Given the description of an element on the screen output the (x, y) to click on. 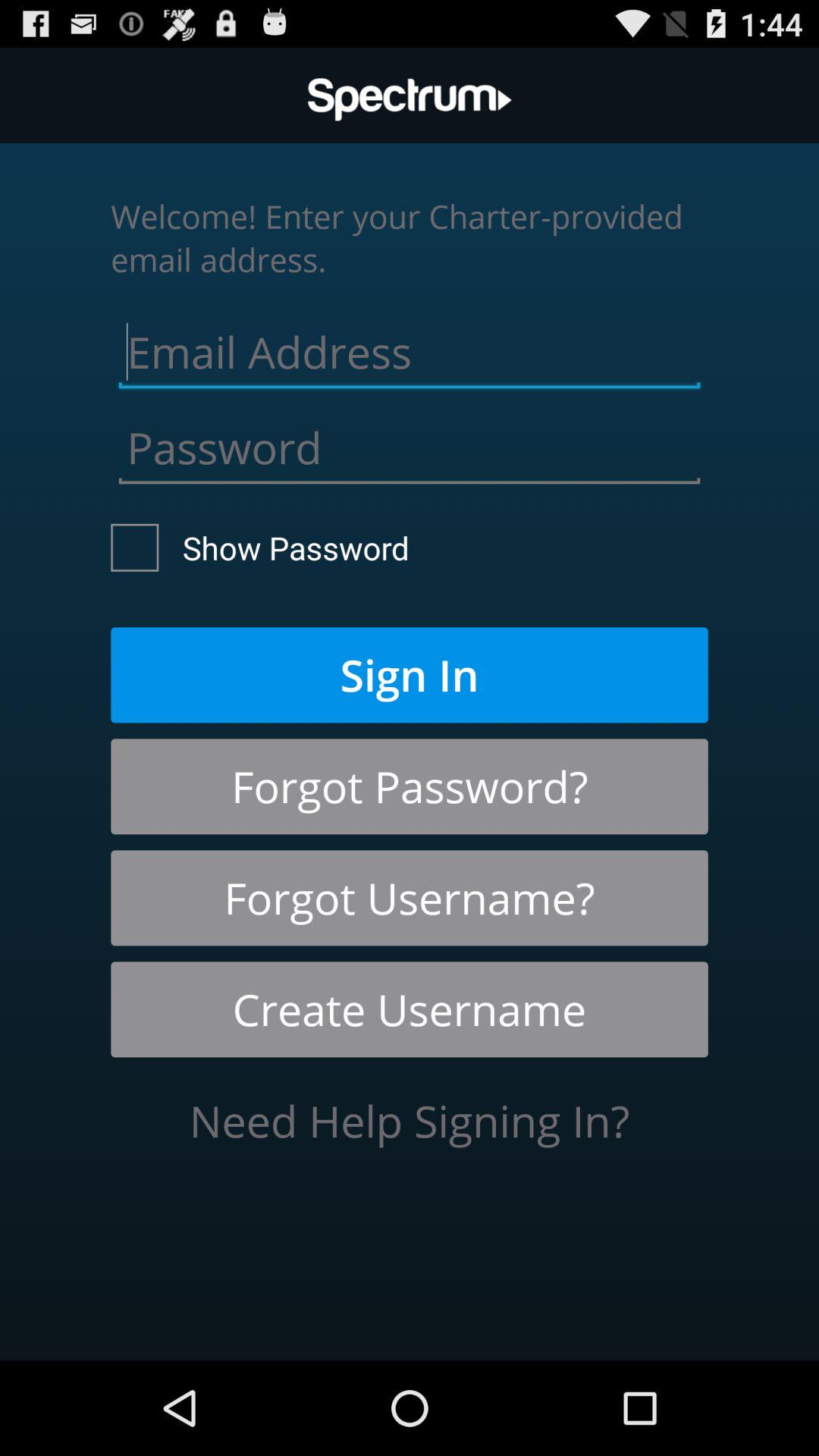
enter password (409, 443)
